Given the description of an element on the screen output the (x, y) to click on. 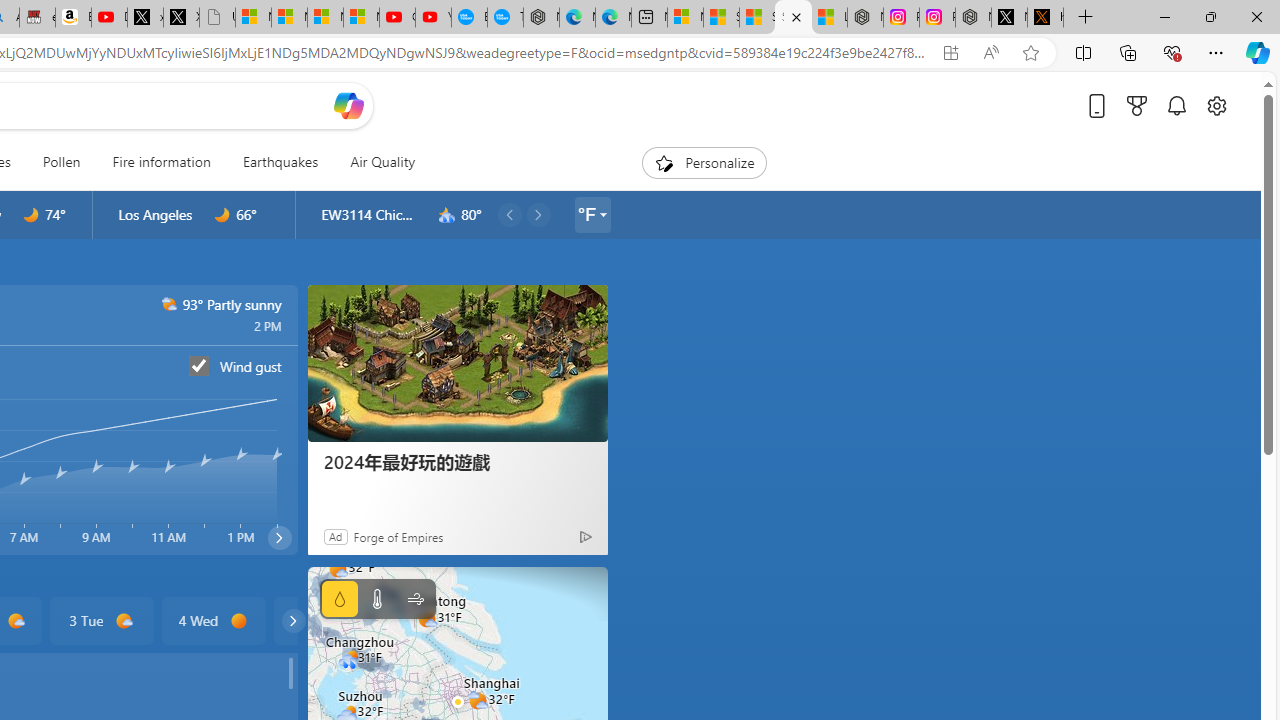
Wind (414, 599)
Earthquakes (279, 162)
Shanghai, China hourly forecast | Microsoft Weather (793, 17)
4 Wed d0000 (213, 620)
n3200 (447, 215)
Microsoft rewards (1137, 105)
Earthquakes (280, 162)
locationBar/triangle (602, 214)
